Given the description of an element on the screen output the (x, y) to click on. 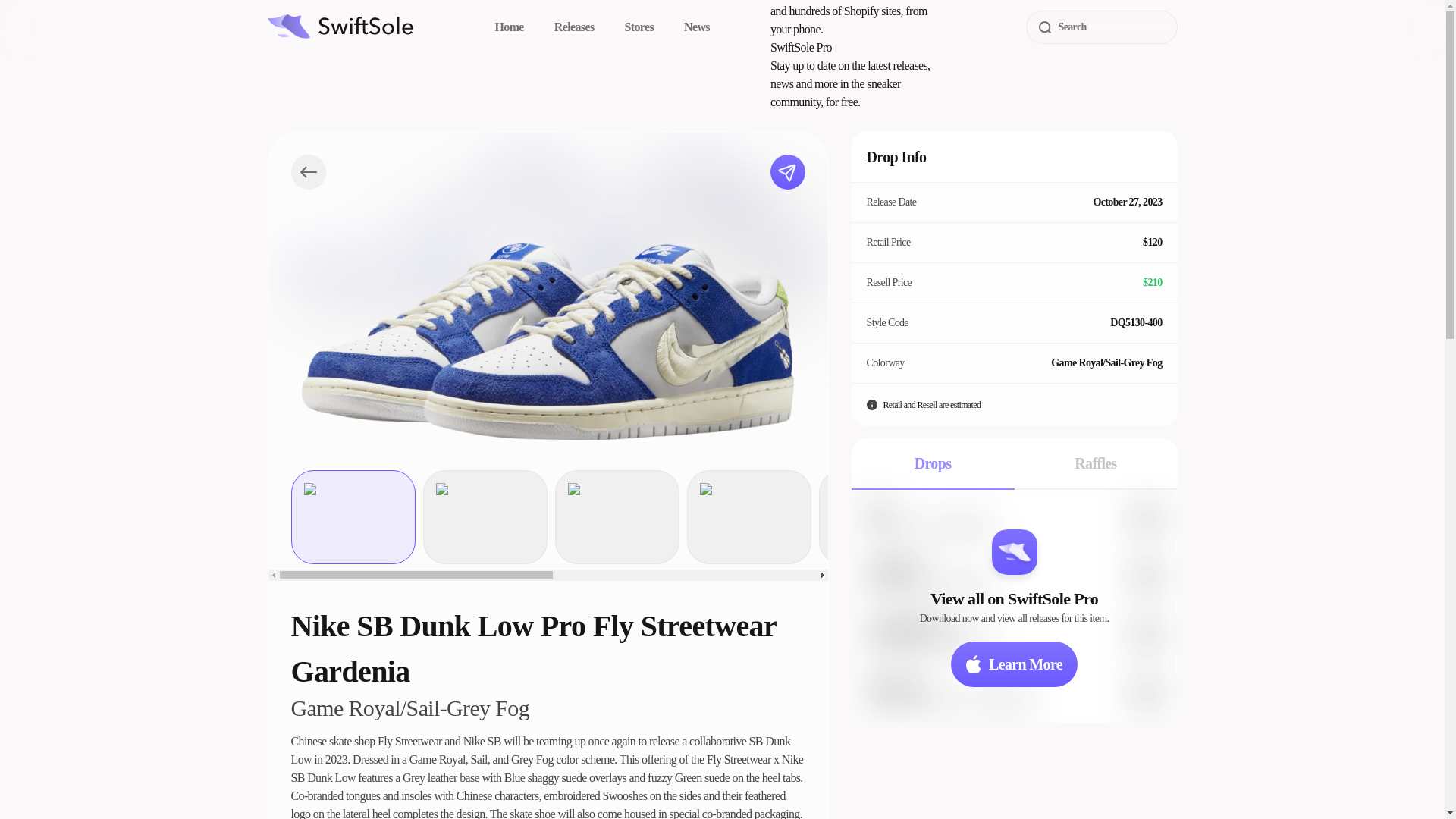
Stores (638, 26)
Releases (574, 26)
Home (508, 26)
News (697, 26)
Learn More (1013, 664)
Raffles (1095, 463)
Search (1100, 27)
Drops (931, 463)
